Given the description of an element on the screen output the (x, y) to click on. 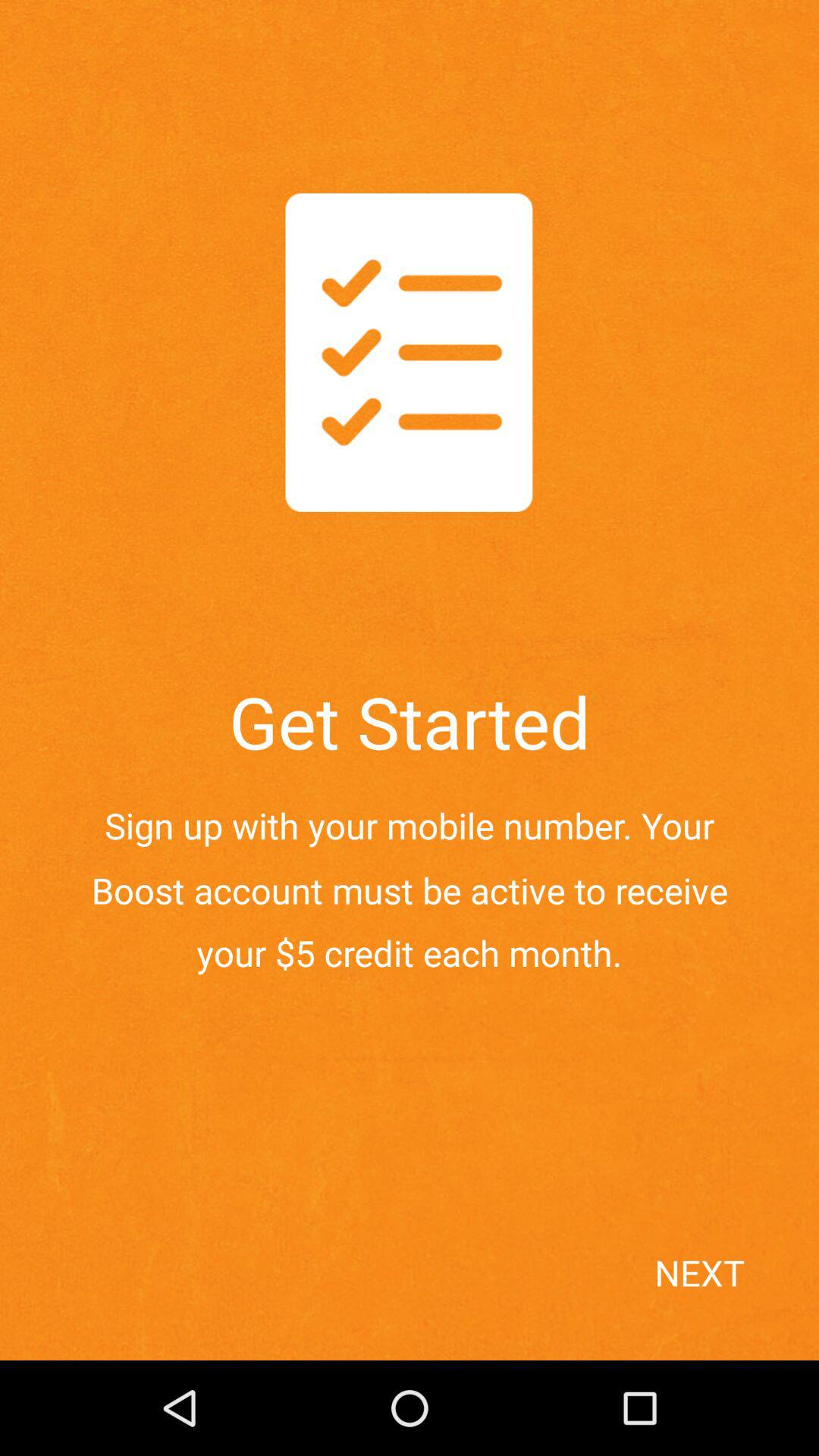
choose button at the bottom right corner (731, 1300)
